Given the description of an element on the screen output the (x, y) to click on. 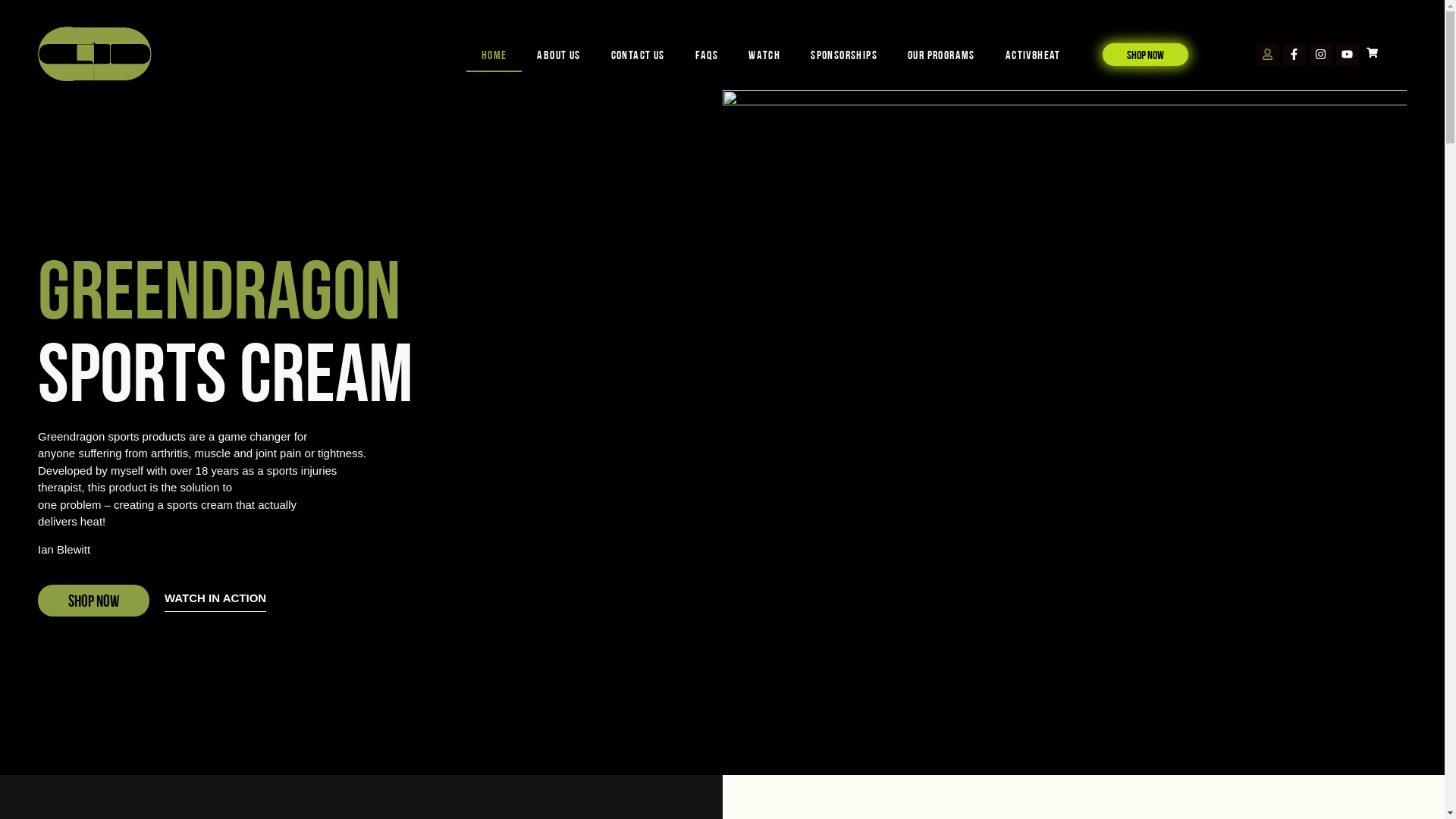
OUR PROGRAMS Element type: text (941, 53)
Home Element type: text (494, 53)
Activ8Heat Element type: text (1033, 53)
FAQs Element type: text (707, 53)
WATCH Element type: text (764, 53)
SHOP NOW Element type: text (1145, 53)
WATCH IN ACTION Element type: text (215, 601)
SPONSORSHIPS Element type: text (843, 53)
Contact us Element type: text (638, 53)
SHOP NOW Element type: text (93, 600)
About us Element type: text (558, 53)
